Given the description of an element on the screen output the (x, y) to click on. 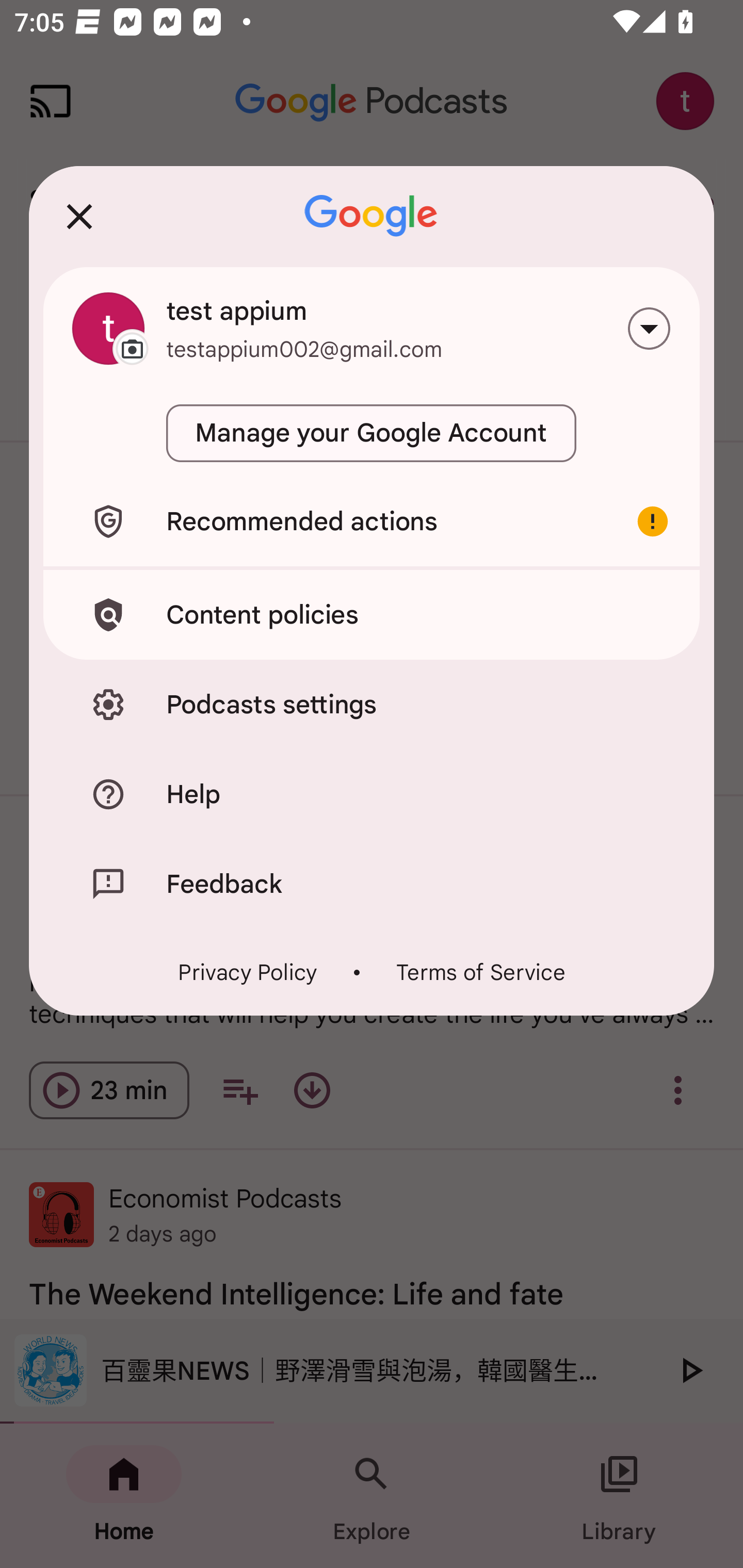
Close (79, 216)
Change profile picture. (108, 328)
Manage your Google Account (371, 433)
Recommended actions Important account alert (371, 521)
Content policies (371, 614)
Privacy Policy (247, 972)
Terms of Service (479, 972)
